Given the description of an element on the screen output the (x, y) to click on. 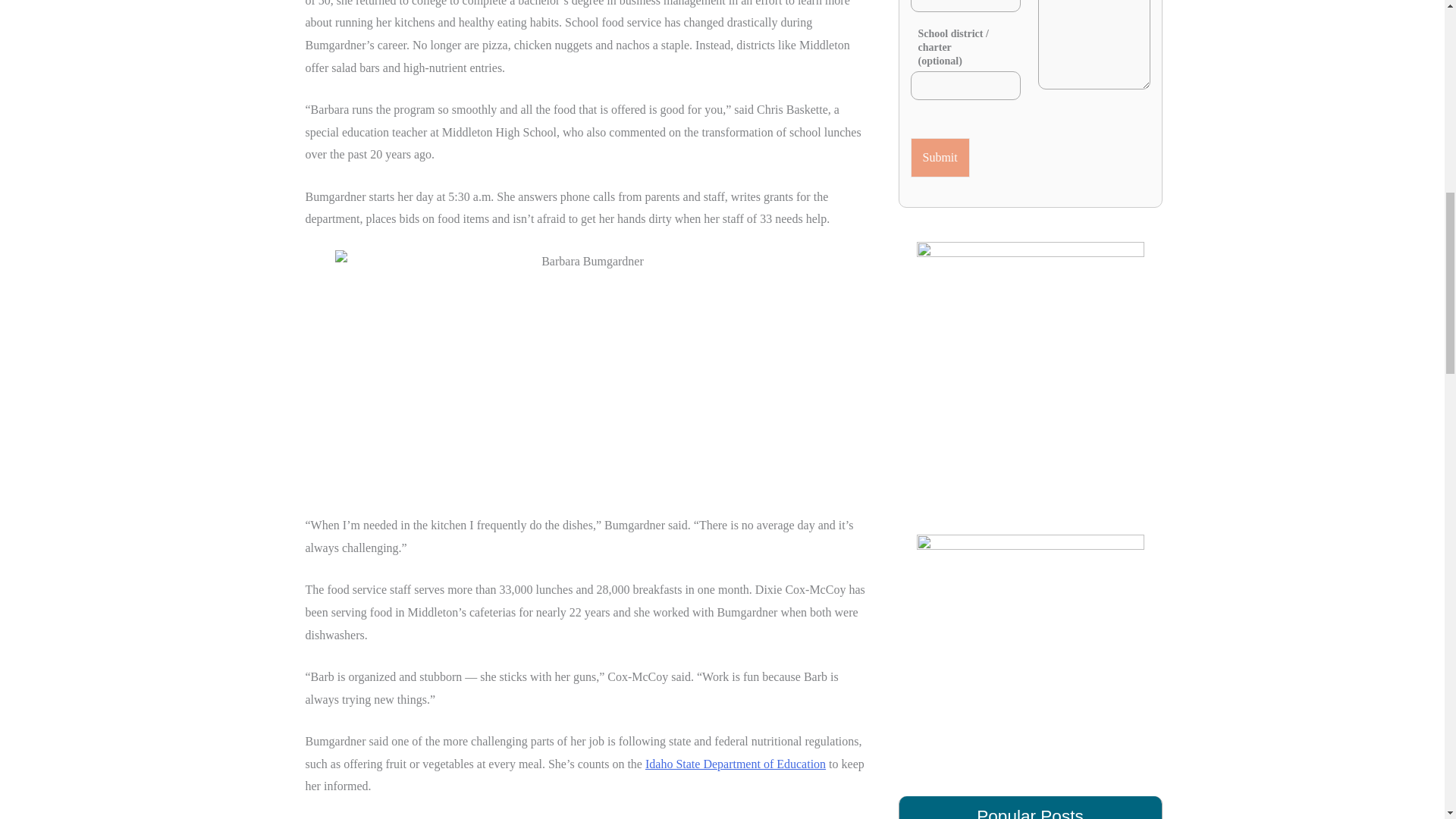
Idaho State Department of Education (735, 763)
Submit (939, 157)
